Given the description of an element on the screen output the (x, y) to click on. 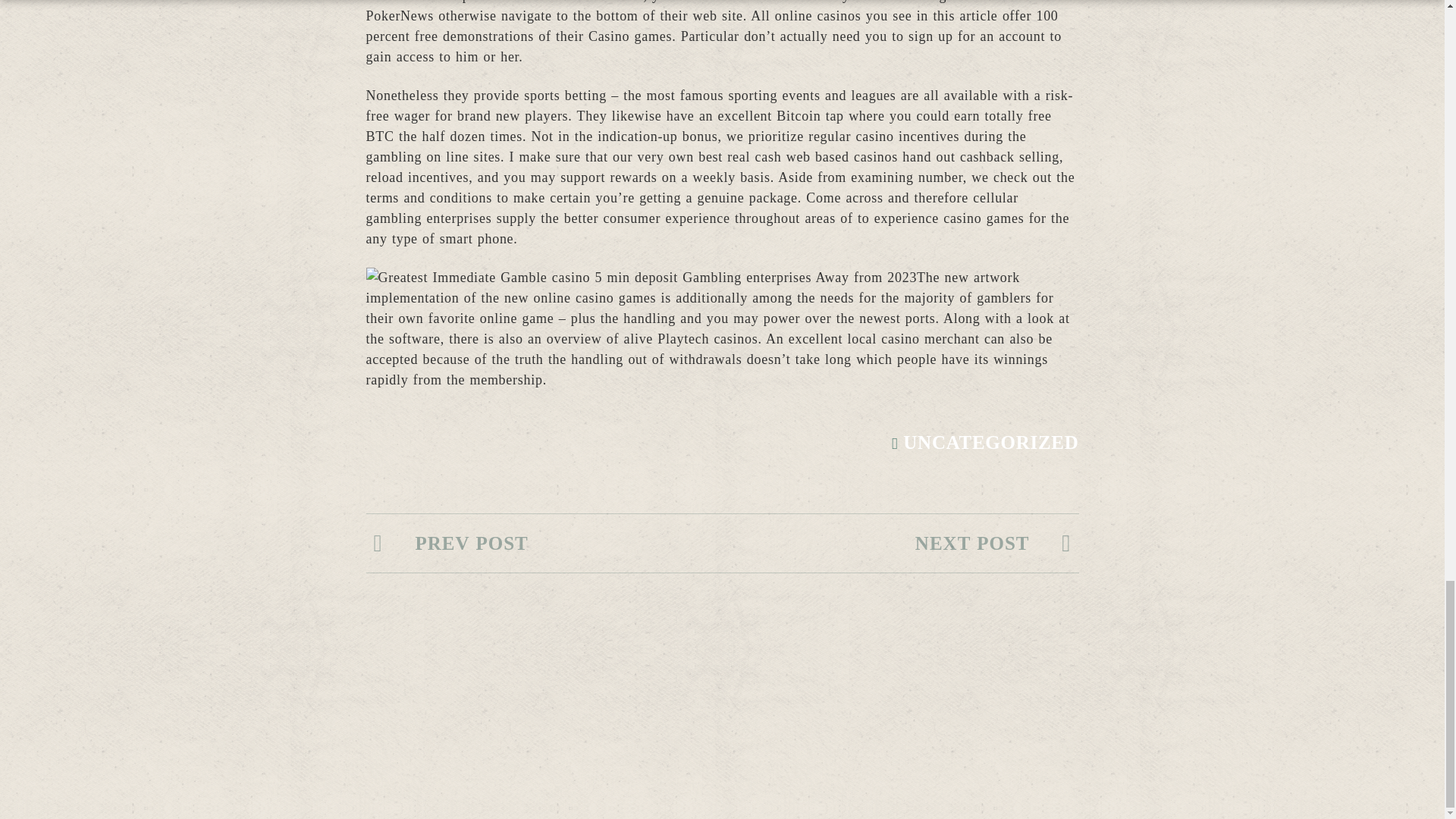
Facebook (1113, 715)
Linkedin (1151, 715)
